Given the description of an element on the screen output the (x, y) to click on. 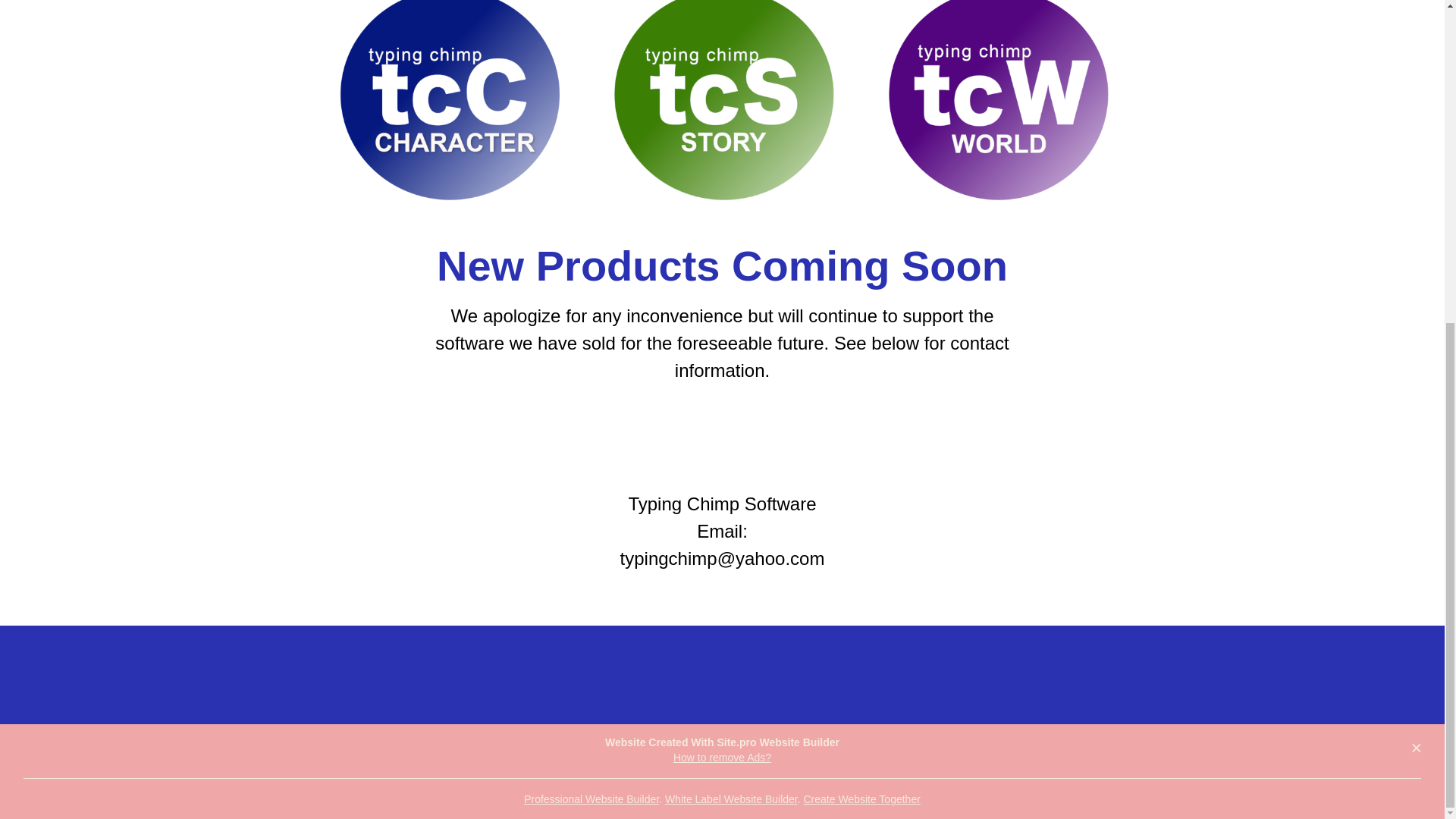
Create Website Together (861, 799)
White Label Website Builder (731, 799)
How to remove Ads? (721, 757)
White Label Website Builder (731, 799)
How to remove Ads? (721, 757)
Professional Website Builder (591, 799)
Professional Website Builder (591, 799)
Create Website Together (861, 799)
